Given the description of an element on the screen output the (x, y) to click on. 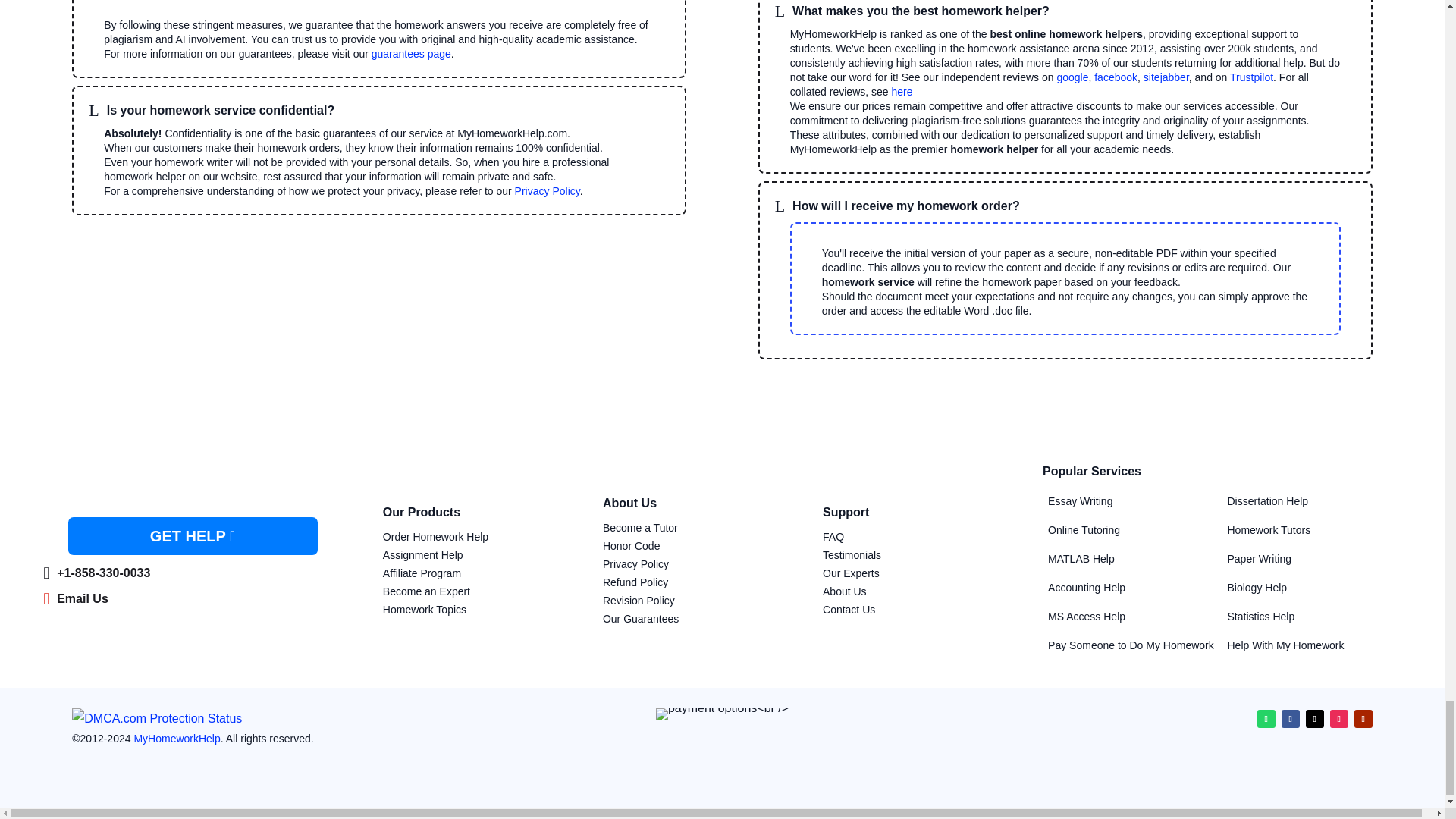
DMCA.com Protection Status (156, 717)
FAQ (833, 536)
